Given the description of an element on the screen output the (x, y) to click on. 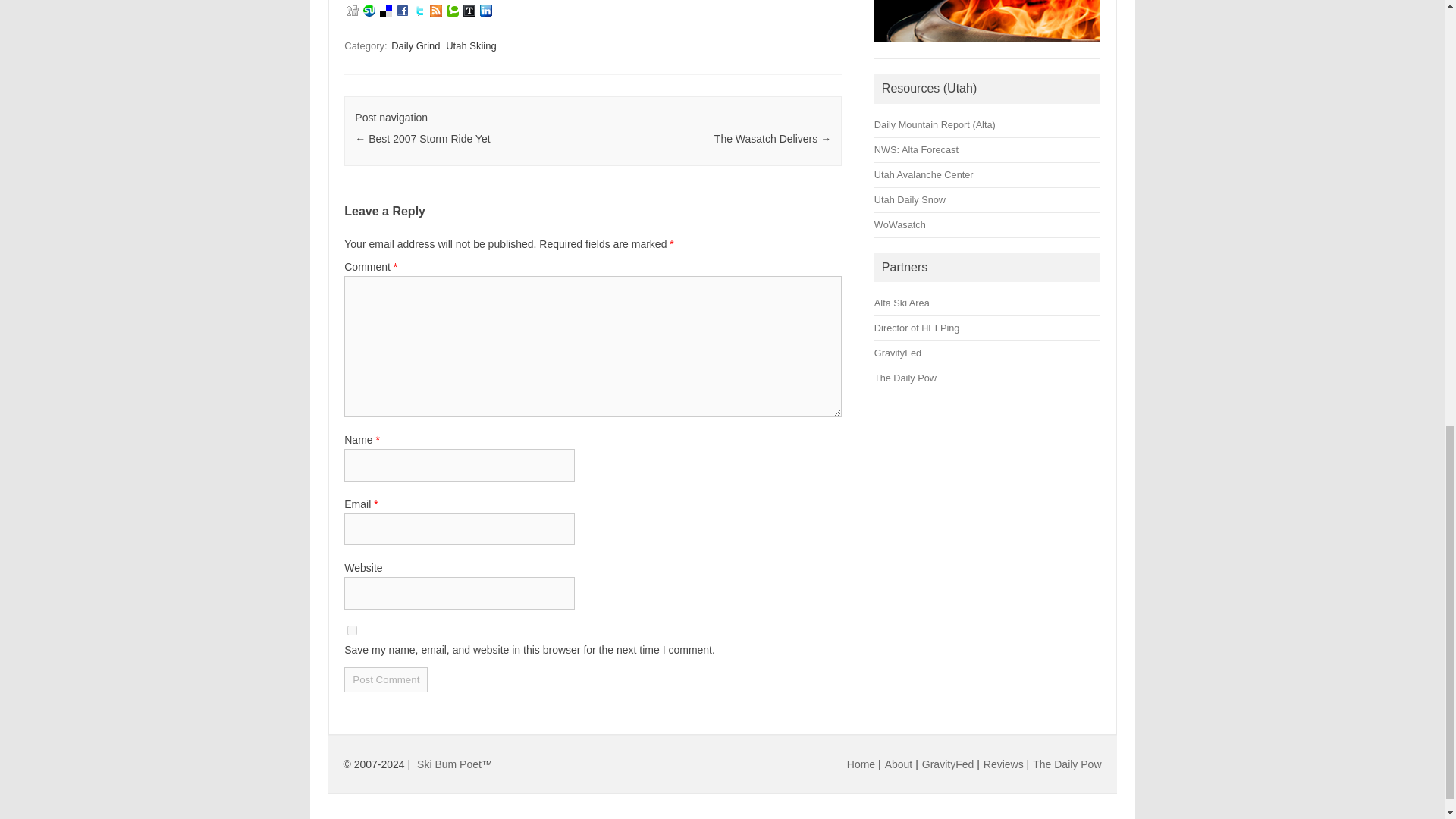
Alta Ski Area Daily Mountain Report (935, 124)
Technorati (452, 10)
LinkedIn (486, 10)
del.icio.us (385, 10)
Daily Grind (415, 45)
Digg (352, 9)
Post Comment (385, 679)
Post Comment (385, 679)
Utah Skiing (470, 45)
Twitter (419, 10)
yes (351, 630)
Tumblr (469, 10)
Facebook (402, 10)
StumbleUpon (369, 10)
RSS (436, 10)
